Given the description of an element on the screen output the (x, y) to click on. 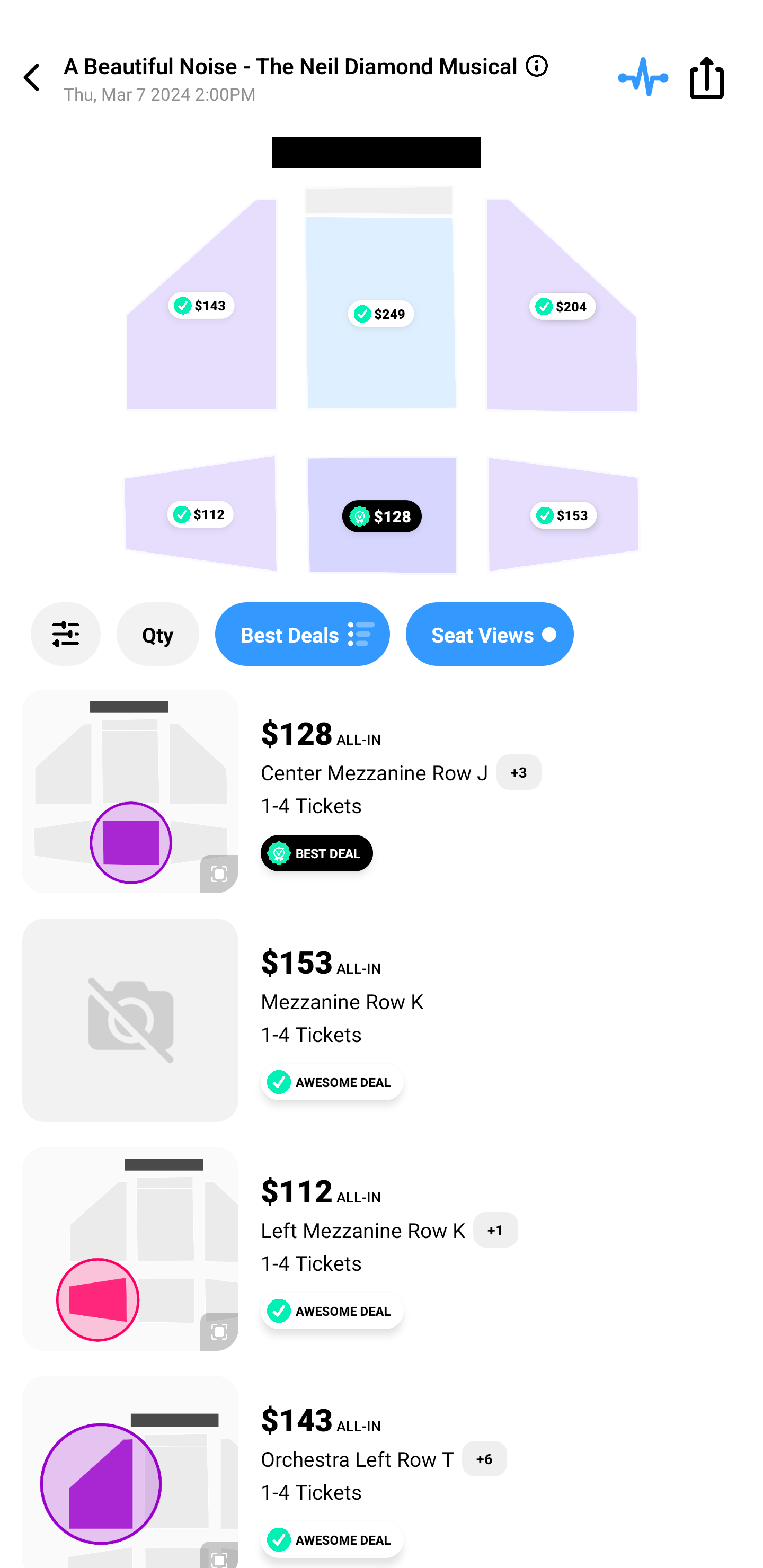
$249 (380, 313)
Qty (157, 634)
Best Deals (302, 634)
Seat Views (489, 634)
+3 (518, 772)
BEST DEAL (316, 852)
AWESOME DEAL (331, 1081)
+1 (495, 1230)
AWESOME DEAL (331, 1310)
+6 (484, 1458)
AWESOME DEAL (331, 1539)
